Given the description of an element on the screen output the (x, y) to click on. 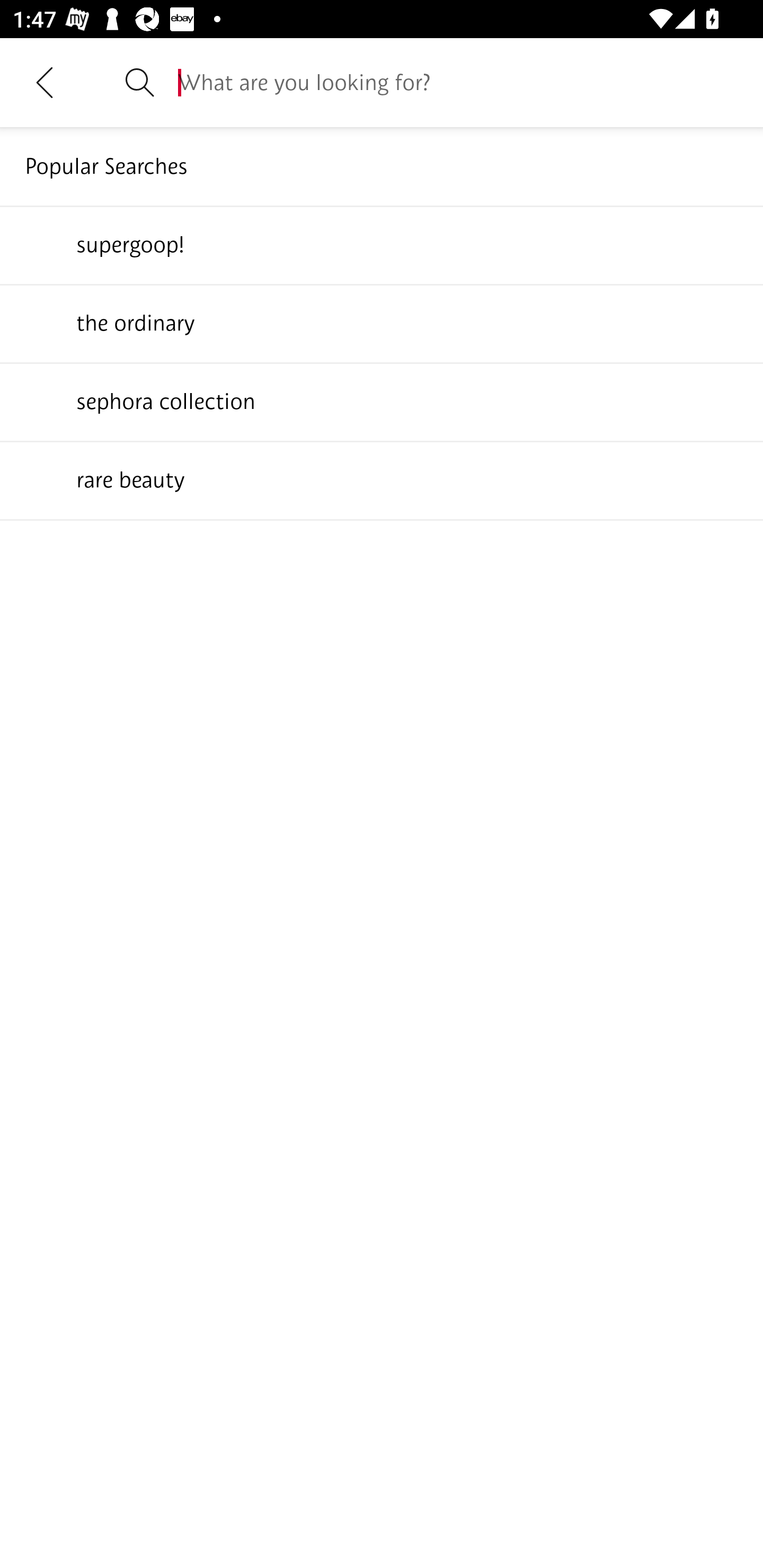
Navigate up (44, 82)
What are you looking for? (457, 82)
supergoop! (381, 244)
the ordinary (381, 322)
sephora collection (381, 401)
rare beauty (381, 479)
